Given the description of an element on the screen output the (x, y) to click on. 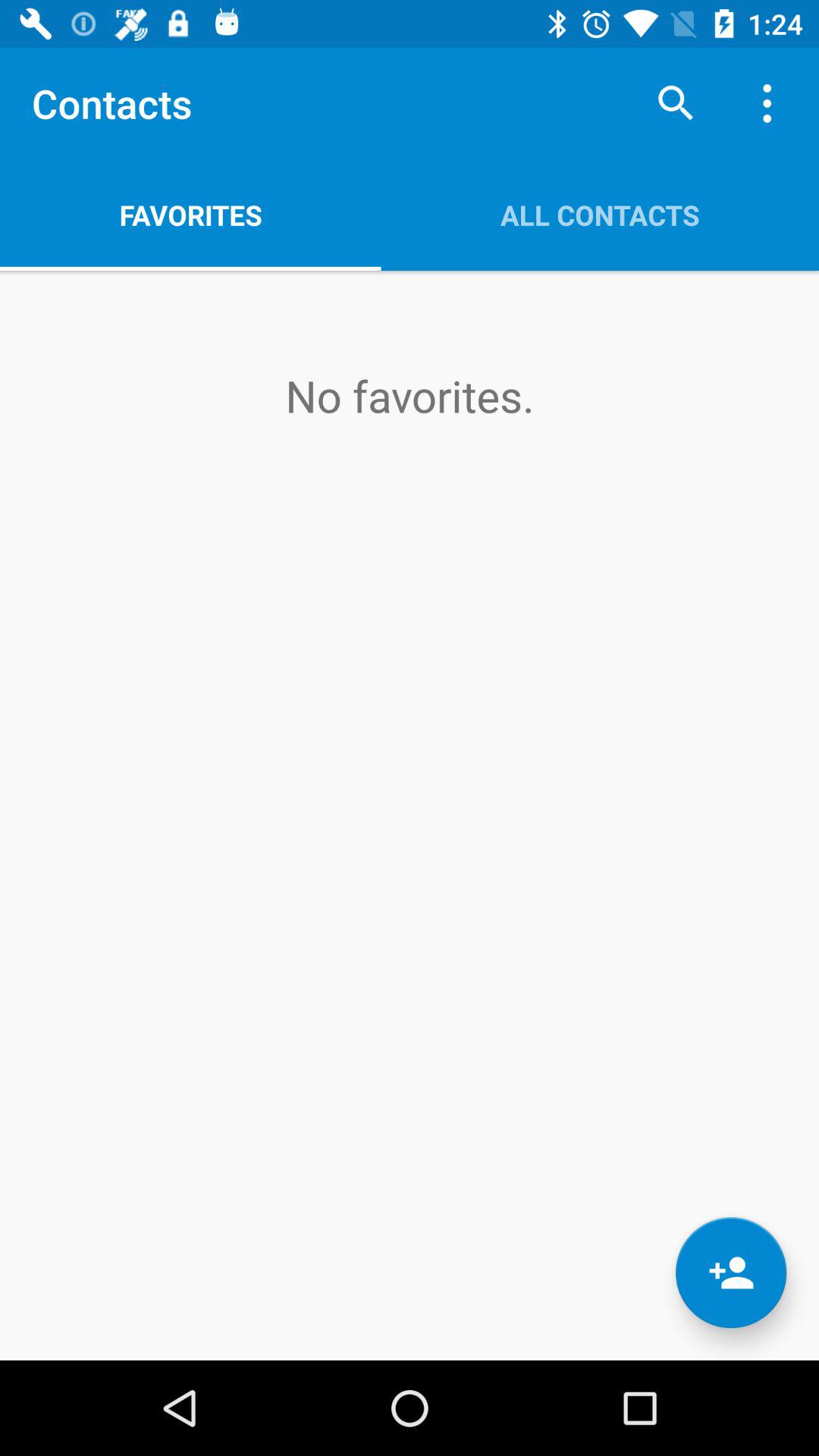
scroll to all contacts icon (600, 214)
